Given the description of an element on the screen output the (x, y) to click on. 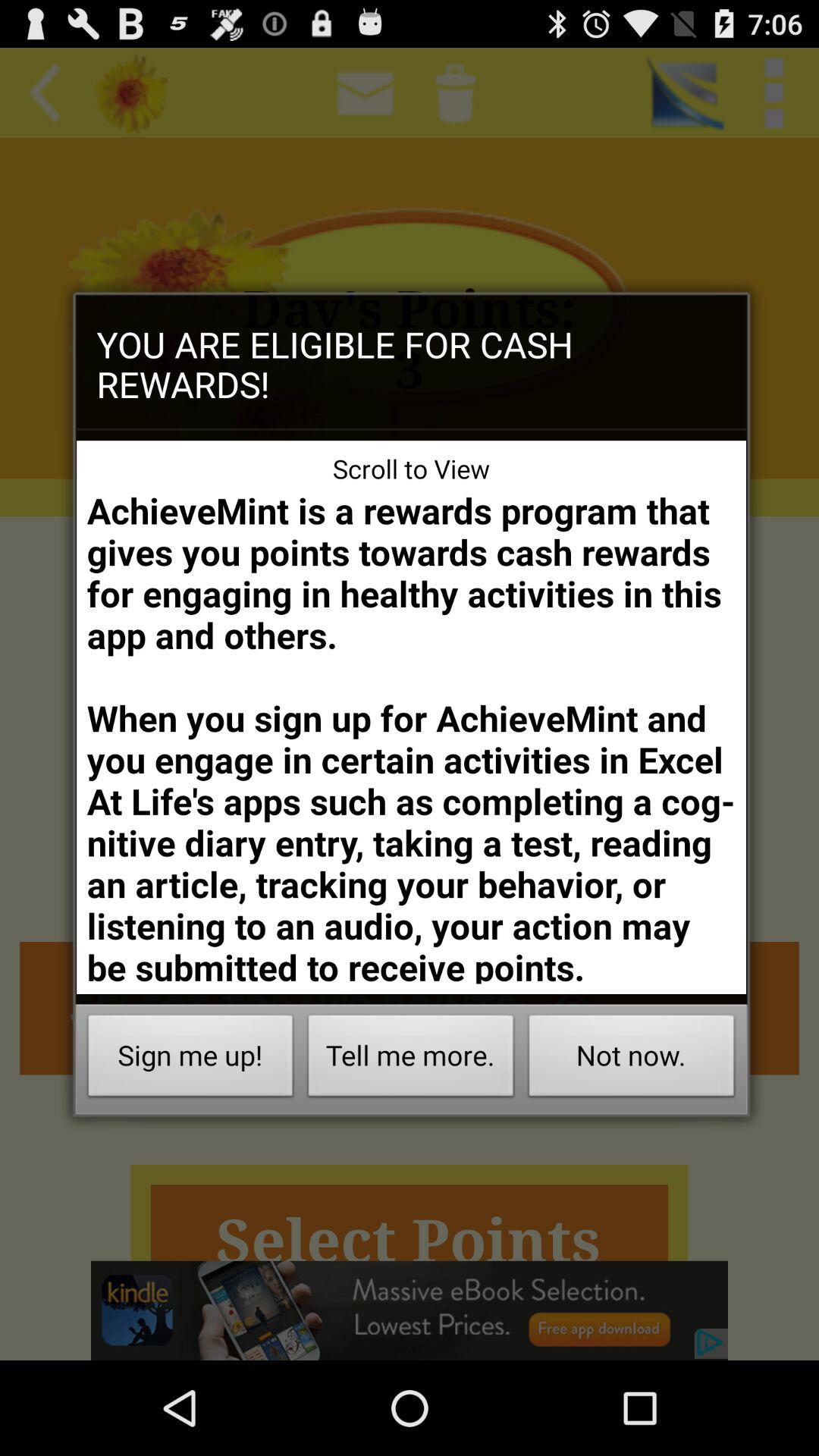
turn off the button next to the not now. (410, 1059)
